Given the description of an element on the screen output the (x, y) to click on. 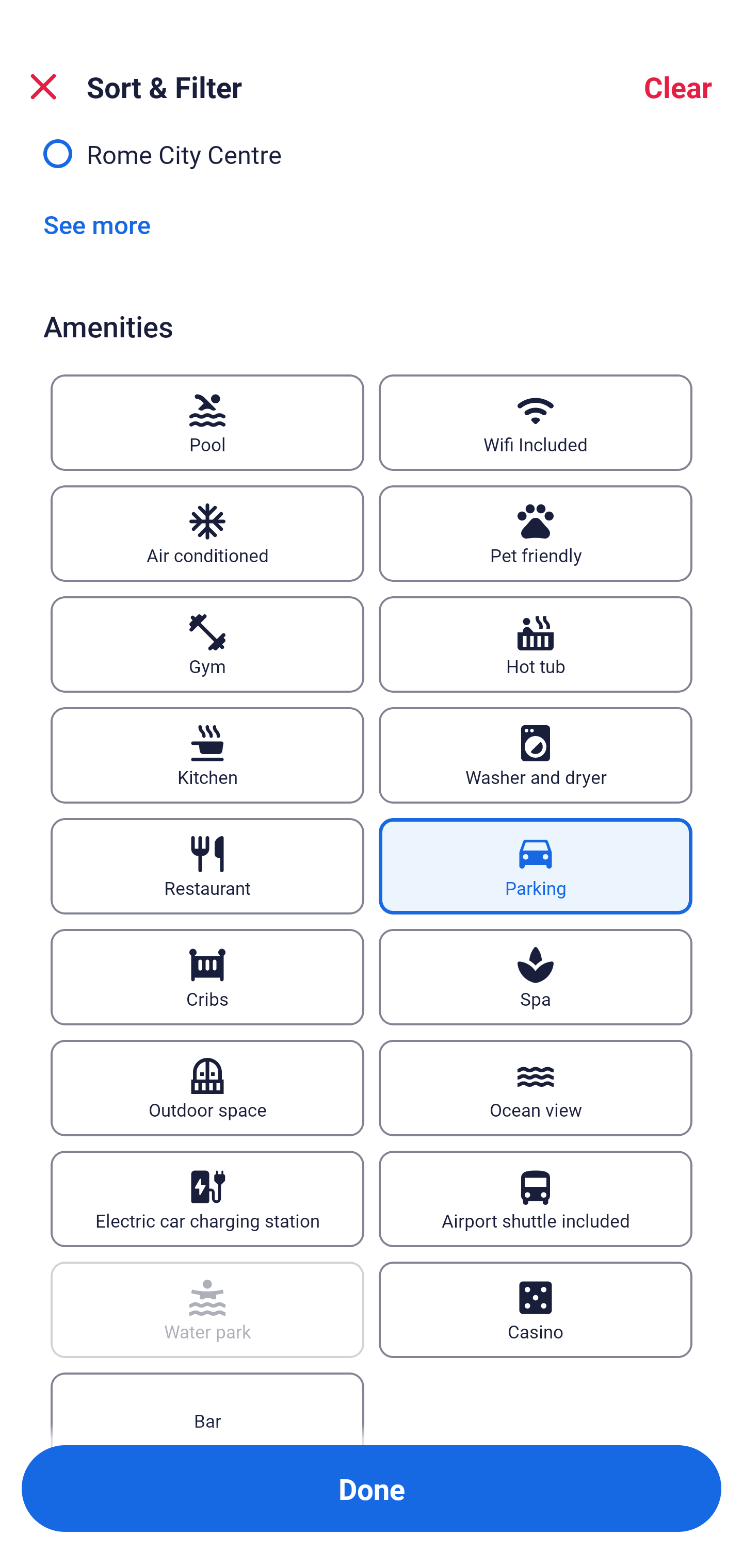
Close Sort and Filter (43, 86)
Clear (677, 86)
Rome City Centre (371, 163)
See more See more neighborhoods Link (96, 224)
Pool (207, 422)
Wifi Included (535, 422)
Air conditioned (207, 533)
Pet friendly (535, 533)
Gym (207, 644)
Hot tub (535, 644)
Kitchen (207, 754)
Washer and dryer (535, 754)
Restaurant (207, 866)
Parking (535, 866)
Cribs (207, 976)
Spa (535, 976)
Outdoor space (207, 1087)
Ocean view (535, 1087)
Electric car charging station (207, 1198)
Airport shuttle included (535, 1198)
Water park (207, 1309)
Casino (535, 1309)
Bar (207, 1408)
Apply and close Sort and Filter Done (371, 1488)
